Given the description of an element on the screen output the (x, y) to click on. 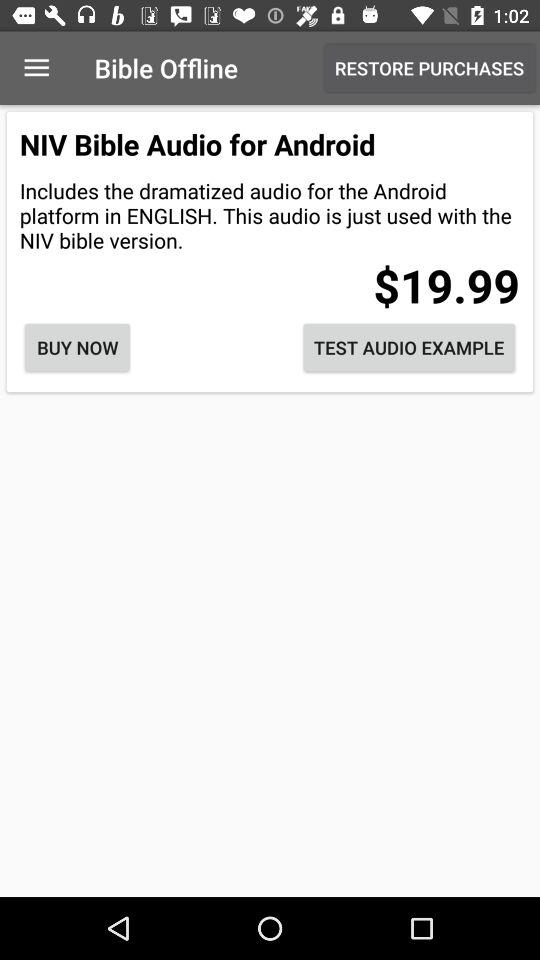
open item next to the buy now item (409, 347)
